Given the description of an element on the screen output the (x, y) to click on. 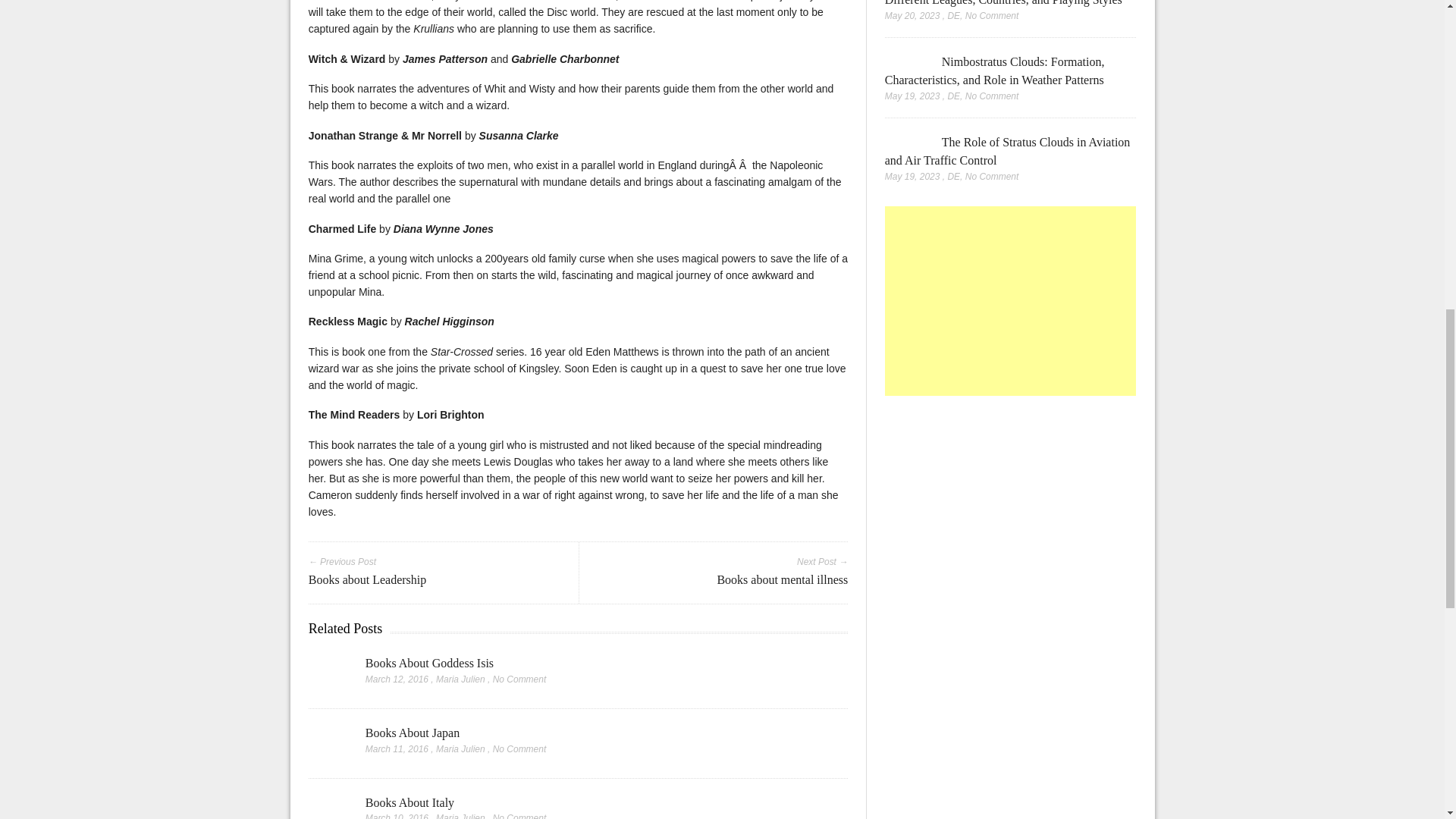
Maria Julien (459, 816)
No Comment (520, 748)
No Comment (520, 679)
Posts by Maria Julien (459, 748)
Books About Japan (412, 732)
No Comment (520, 816)
Books About Italy (409, 802)
Posts by Maria Julien (459, 816)
Maria Julien (459, 748)
Books About Goddess Isis (429, 662)
Books About Italy (409, 802)
Maria Julien (459, 679)
Posts by Maria Julien (459, 679)
Books About Japan (412, 732)
Books About Goddess Isis (329, 675)
